Given the description of an element on the screen output the (x, y) to click on. 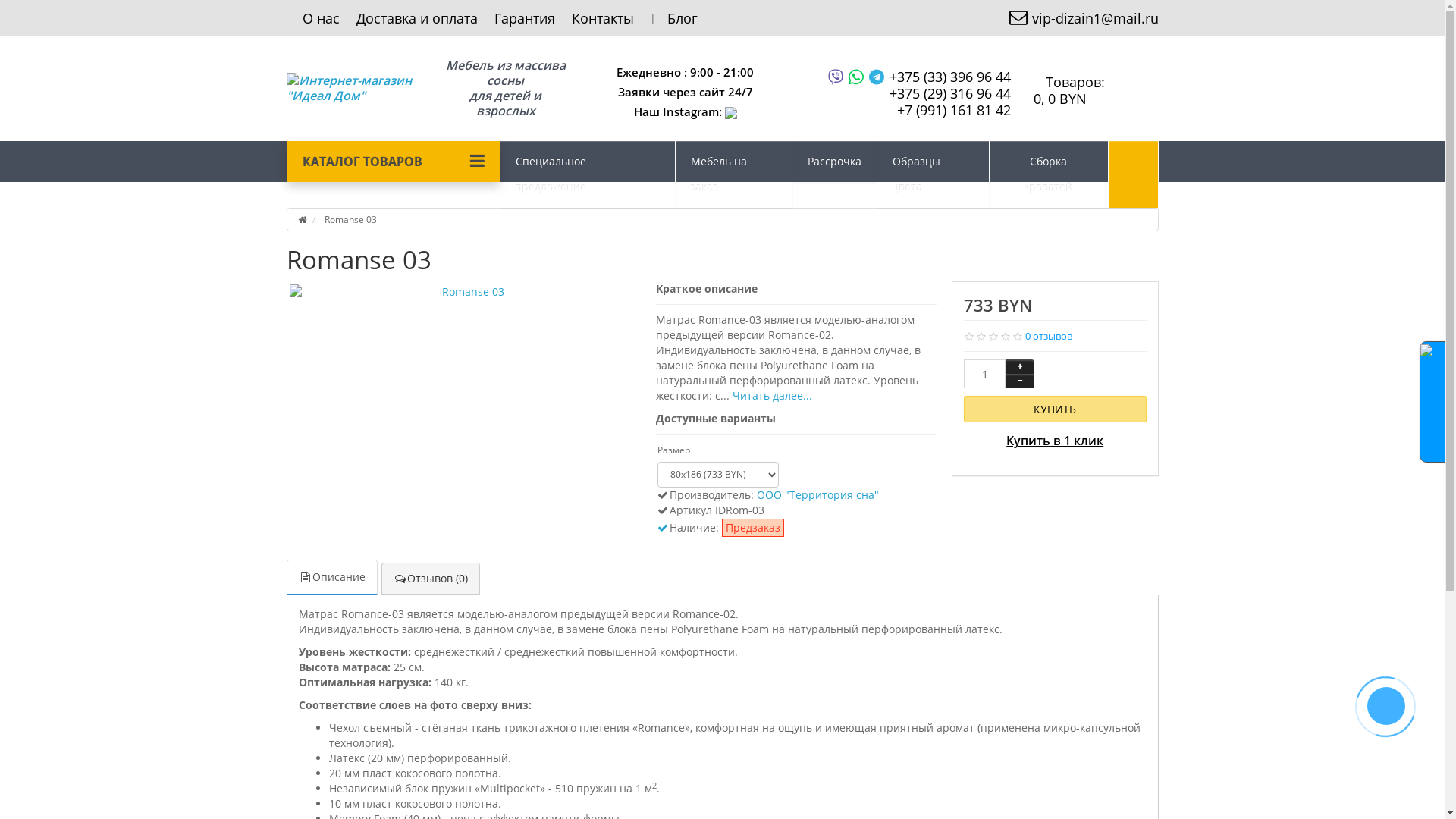
+7 (991) 161 81 42 Element type: text (953, 109)
Romanse 03 Element type: hover (467, 291)
vip-dizain1@mail.ru Element type: text (1081, 18)
+375 (29) 316 96 44 Element type: text (949, 92)
button Element type: hover (1133, 174)
Romanse 03 Element type: hover (467, 291)
+375 (33) 396 96 44 Element type: text (949, 76)
